Given the description of an element on the screen output the (x, y) to click on. 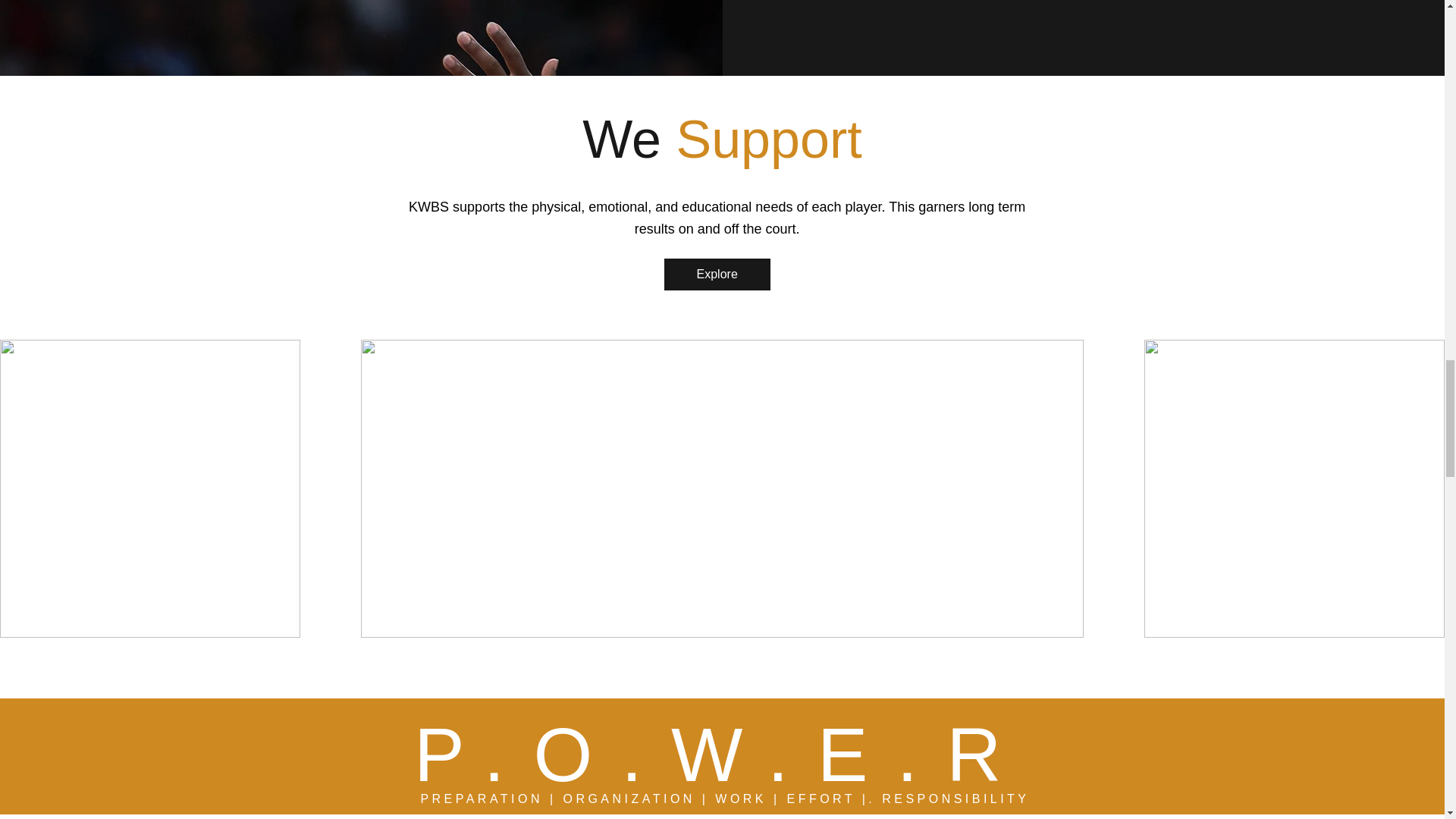
Explore (716, 274)
